Given the description of an element on the screen output the (x, y) to click on. 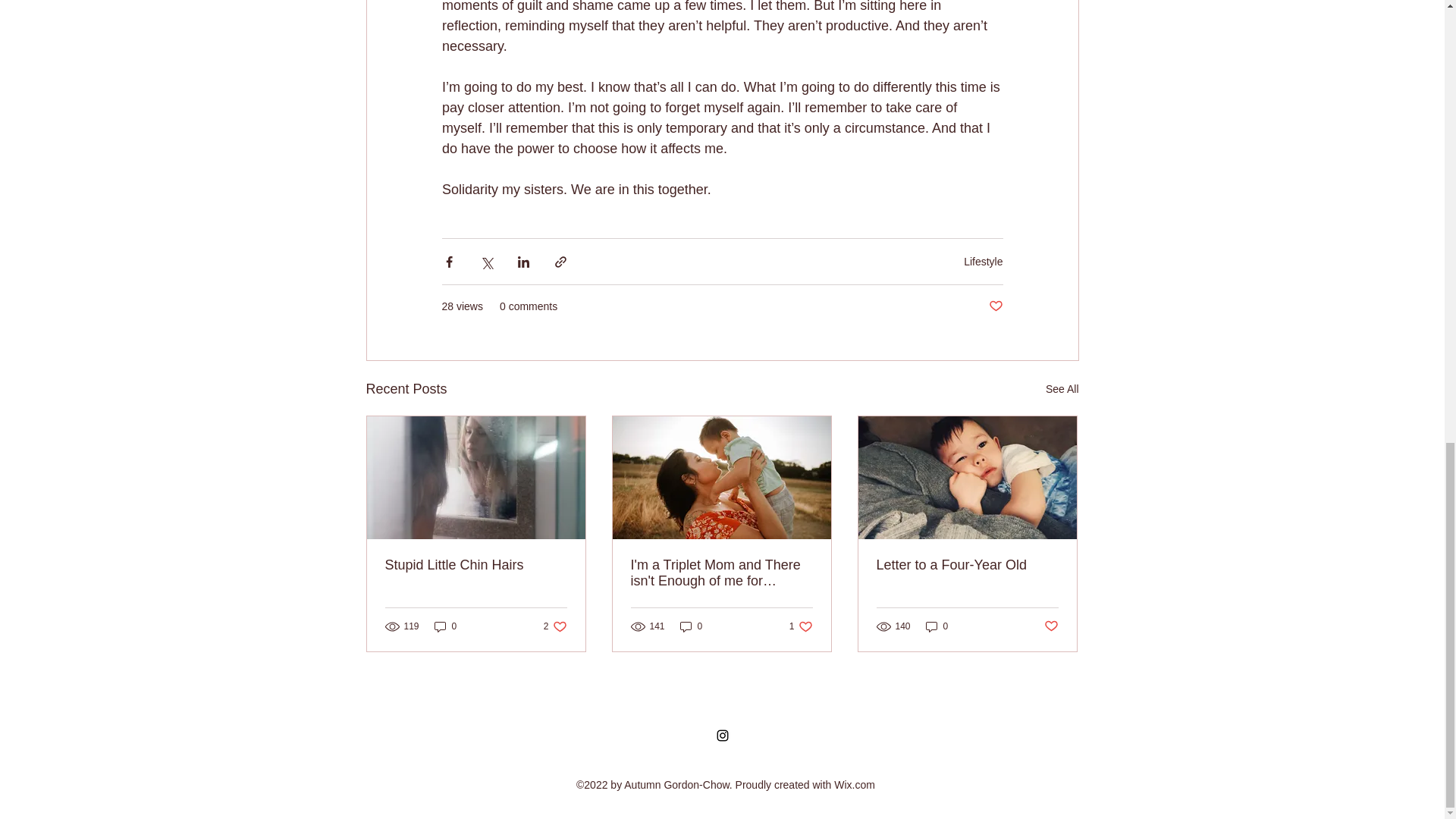
Lifestyle (983, 260)
0 (445, 626)
Post not marked as liked (1050, 626)
See All (800, 626)
Stupid Little Chin Hairs (1061, 389)
Post not marked as liked (476, 565)
Letter to a Four-Year Old (995, 306)
I'm a Triplet Mom and There isn't Enough of me for Everyone (967, 565)
0 (555, 626)
0 (721, 572)
